Given the description of an element on the screen output the (x, y) to click on. 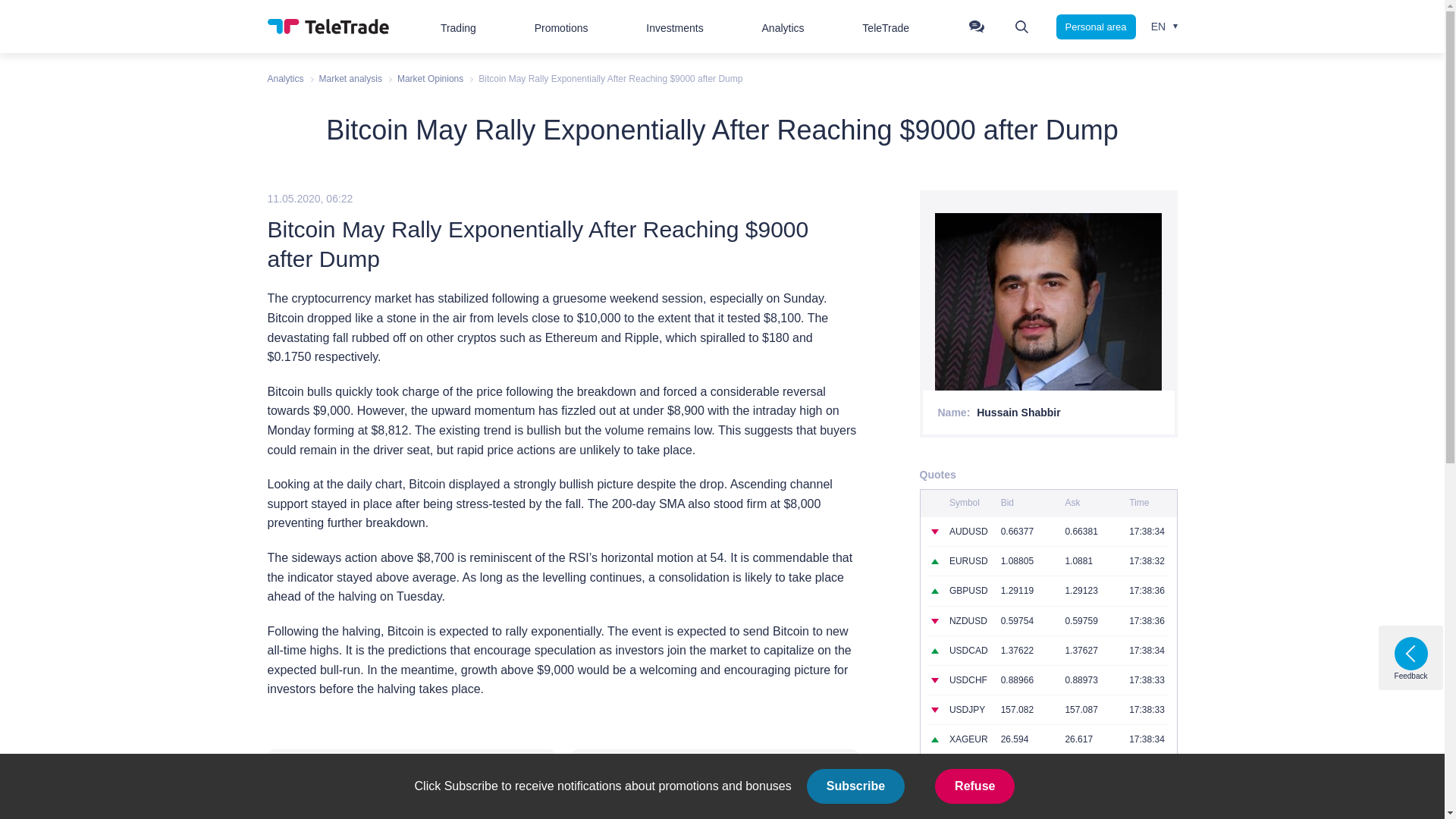
Market Opinions (430, 79)
Market analysis (349, 79)
Analytics (284, 79)
